Given the description of an element on the screen output the (x, y) to click on. 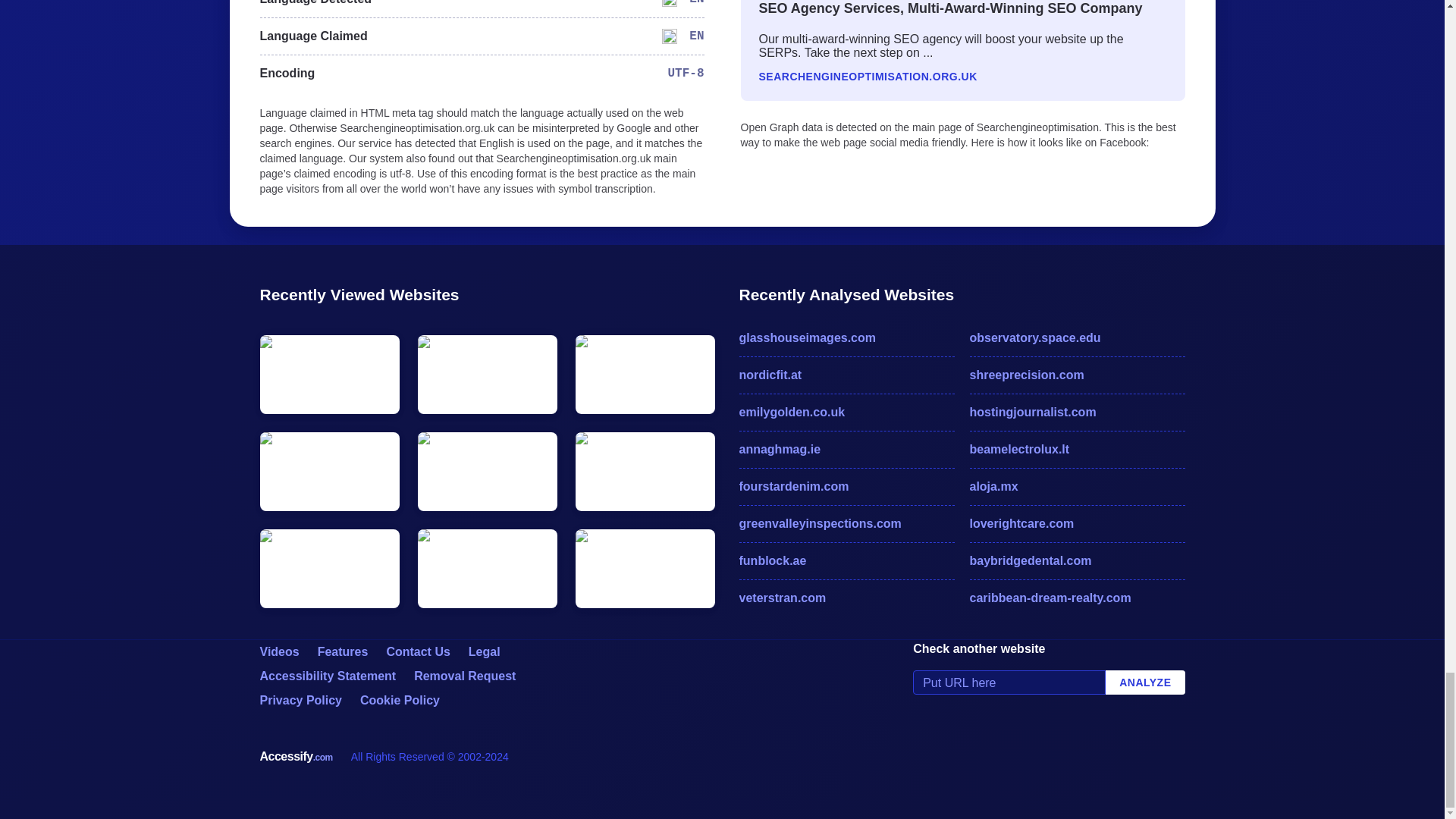
loverightcare.com (1077, 524)
observatory.space.edu (1077, 338)
beamelectrolux.lt (1077, 449)
Legal (484, 651)
baybridgedental.com (1077, 561)
annaghmag.ie (845, 449)
glasshouseimages.com (845, 338)
hostingjournalist.com (1077, 412)
Contact Us (417, 651)
greenvalleyinspections.com (845, 524)
emilygolden.co.uk (845, 412)
shreeprecision.com (1077, 375)
Screencasts: video tutorials and guides (278, 651)
aloja.mx (1077, 486)
